Given the description of an element on the screen output the (x, y) to click on. 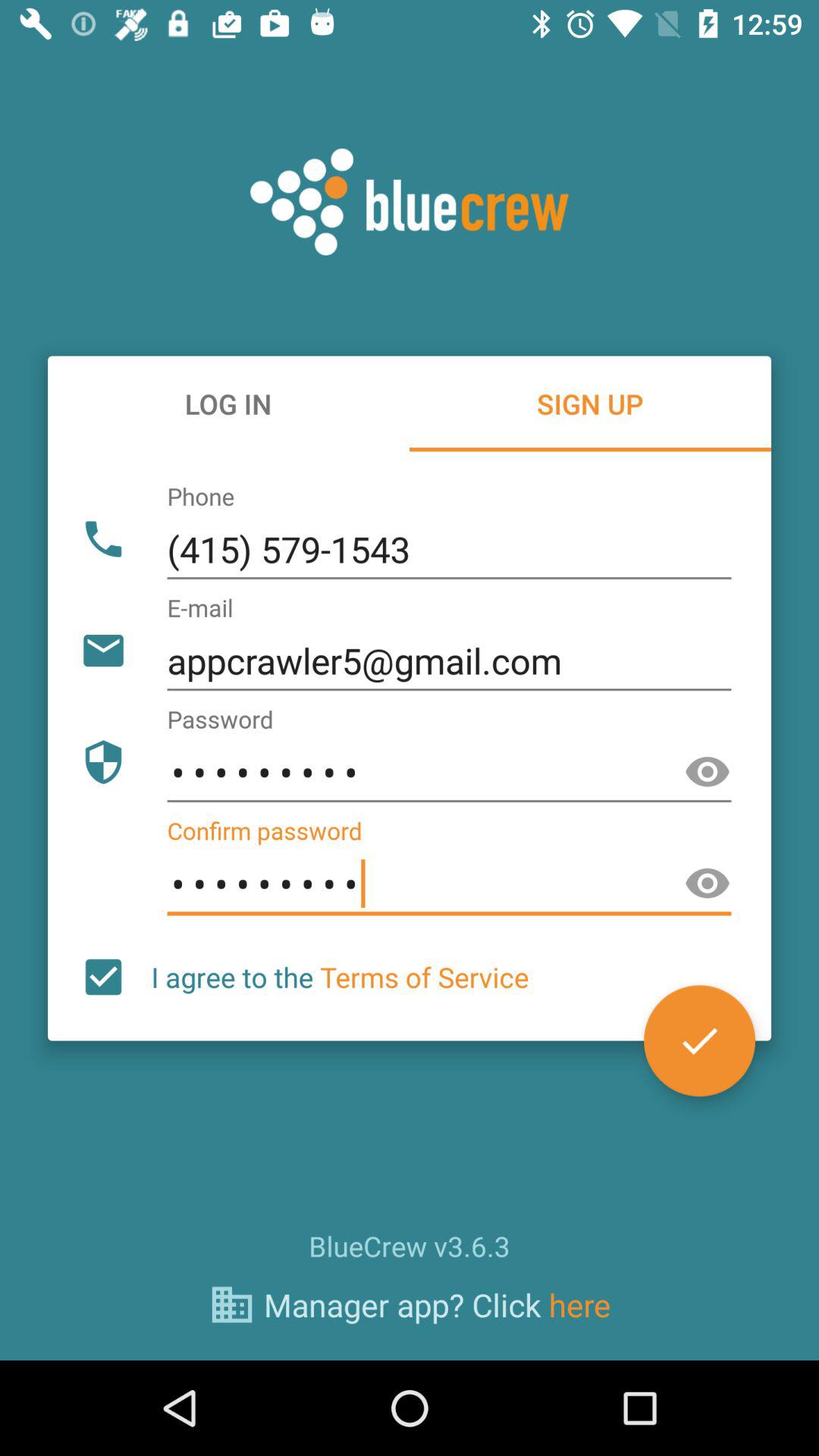
view password (707, 772)
